Given the description of an element on the screen output the (x, y) to click on. 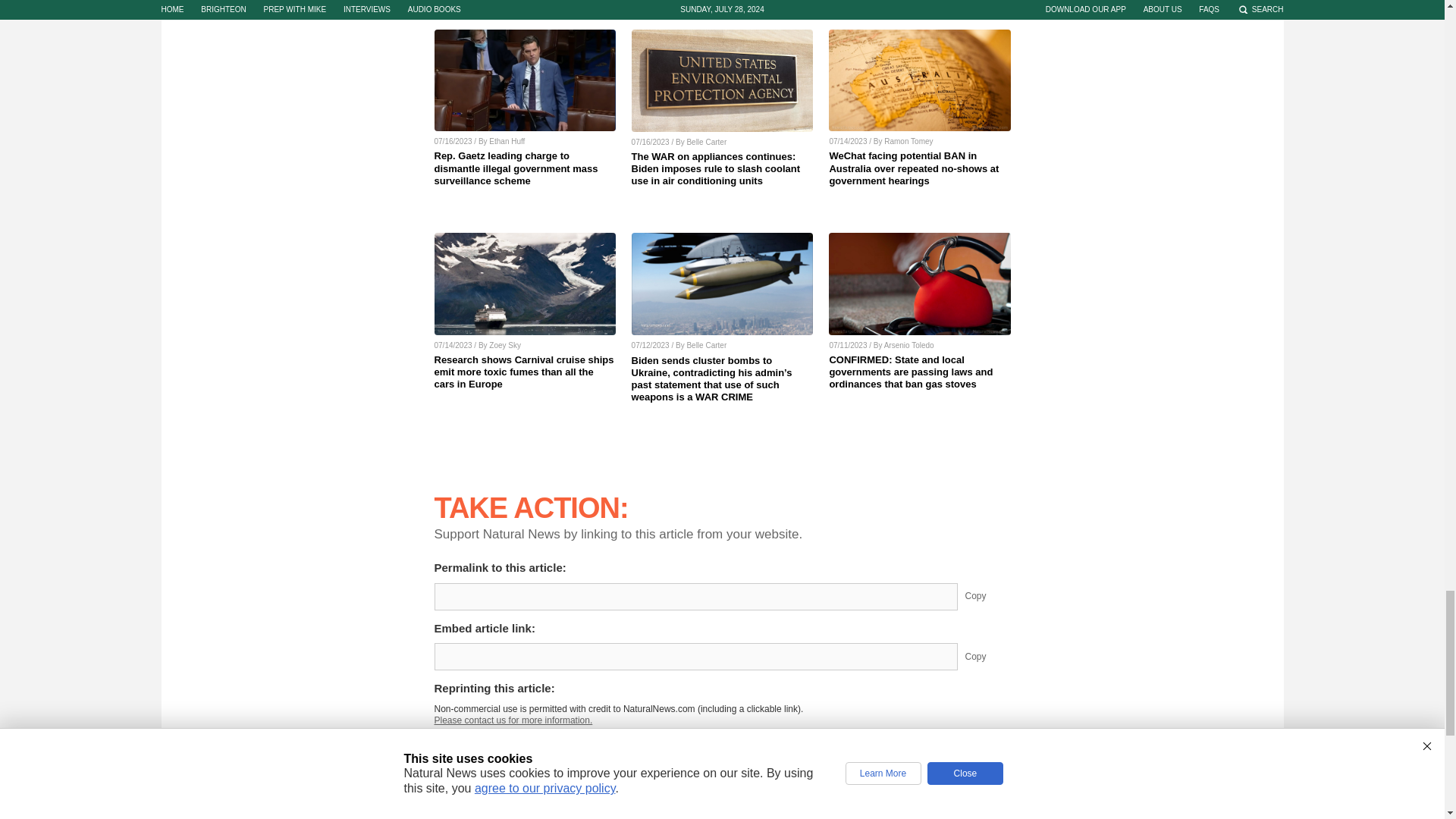
Copy Permalink (986, 596)
Copy Embed Link (986, 656)
